Given the description of an element on the screen output the (x, y) to click on. 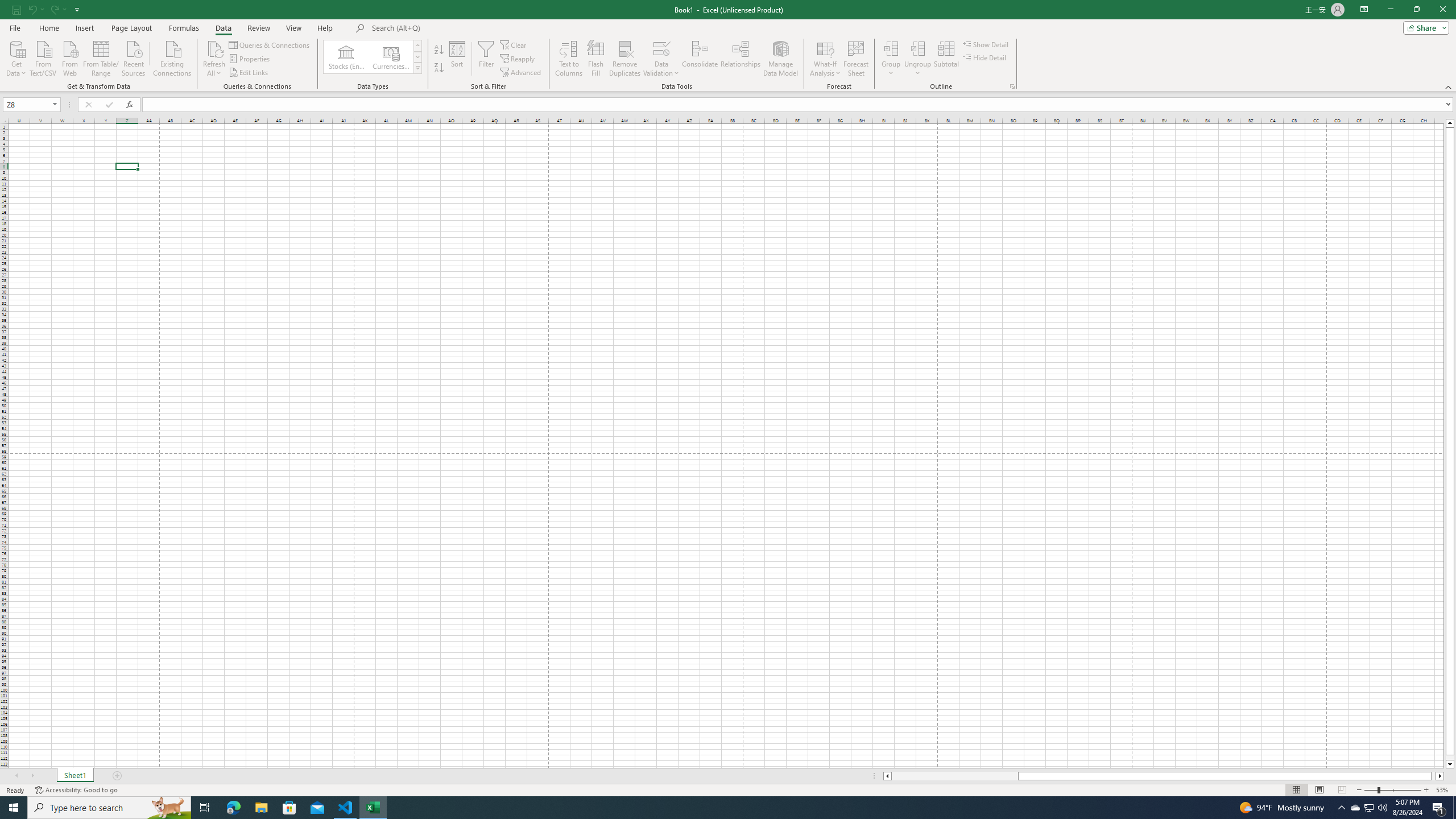
What-If Analysis (825, 58)
Consolidate... (700, 58)
Manage Data Model (780, 58)
Forecast Sheet (856, 58)
Queries & Connections (270, 44)
Text to Columns... (568, 58)
